Given the description of an element on the screen output the (x, y) to click on. 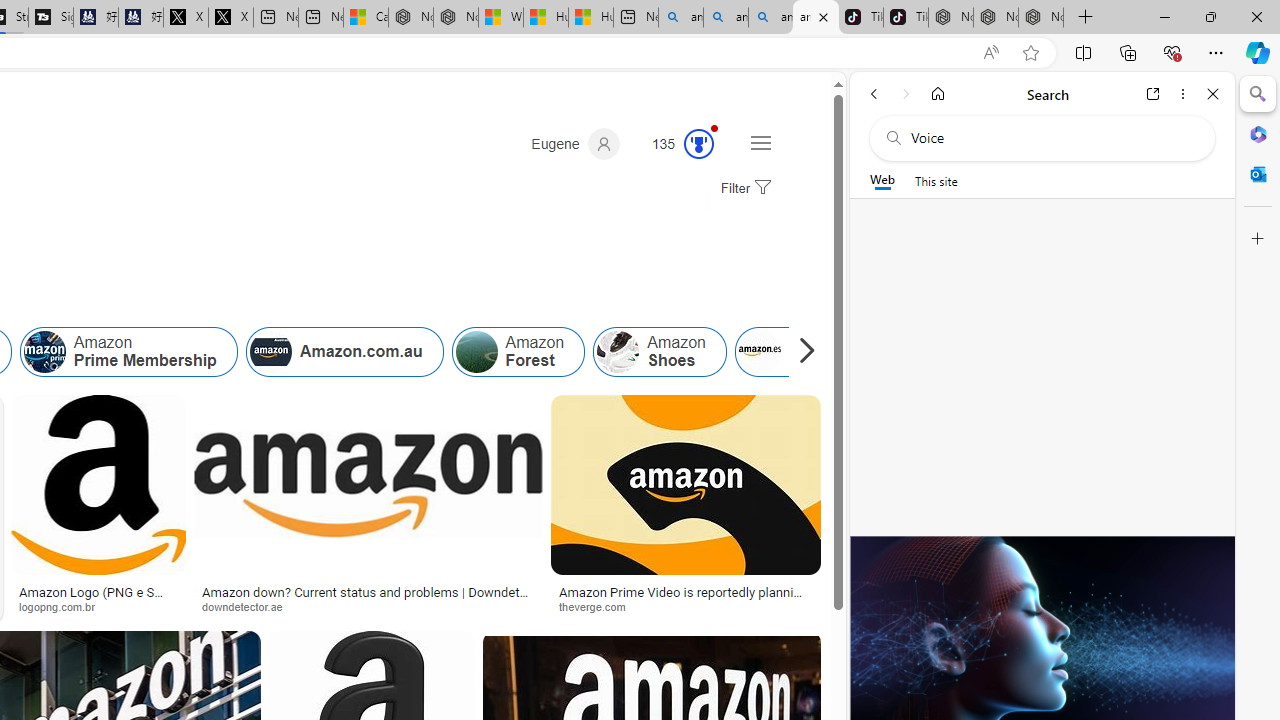
theverge.com (685, 606)
amazon - Search (725, 17)
Outlook (1258, 174)
Filter (743, 189)
logopng.com.br (63, 605)
Amazon Spain (800, 351)
Amazon Forest (517, 351)
Amazon Spain (759, 351)
Open link in new tab (1153, 93)
Class: item col (801, 351)
